Given the description of an element on the screen output the (x, y) to click on. 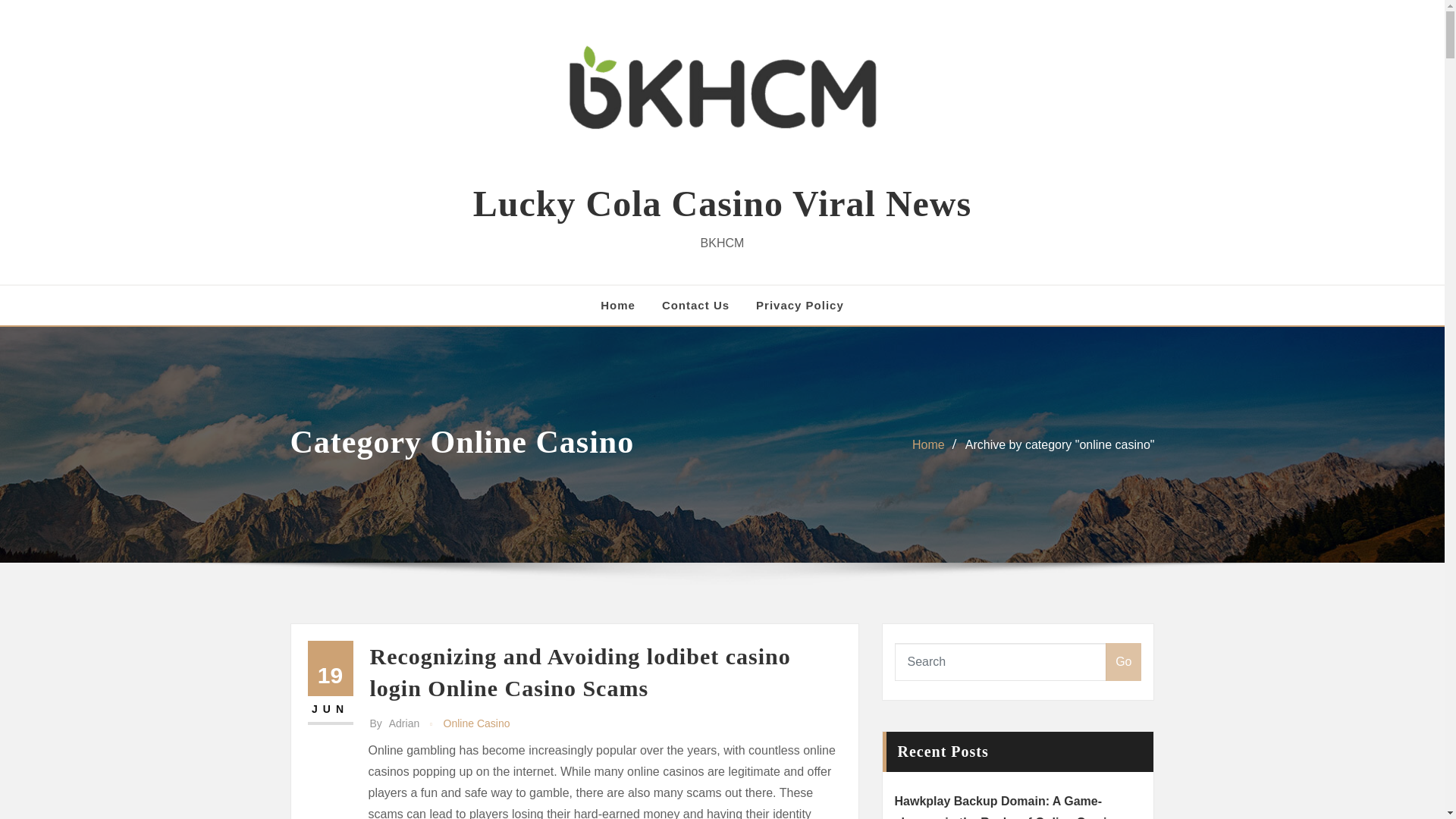
Lucky Cola Casino Viral News (722, 203)
Privacy Policy (799, 305)
By Adrian (394, 723)
Contact Us (695, 305)
Archive by category "online casino" (1059, 444)
Home (928, 444)
Home (616, 305)
Online Casino (477, 723)
